Given the description of an element on the screen output the (x, y) to click on. 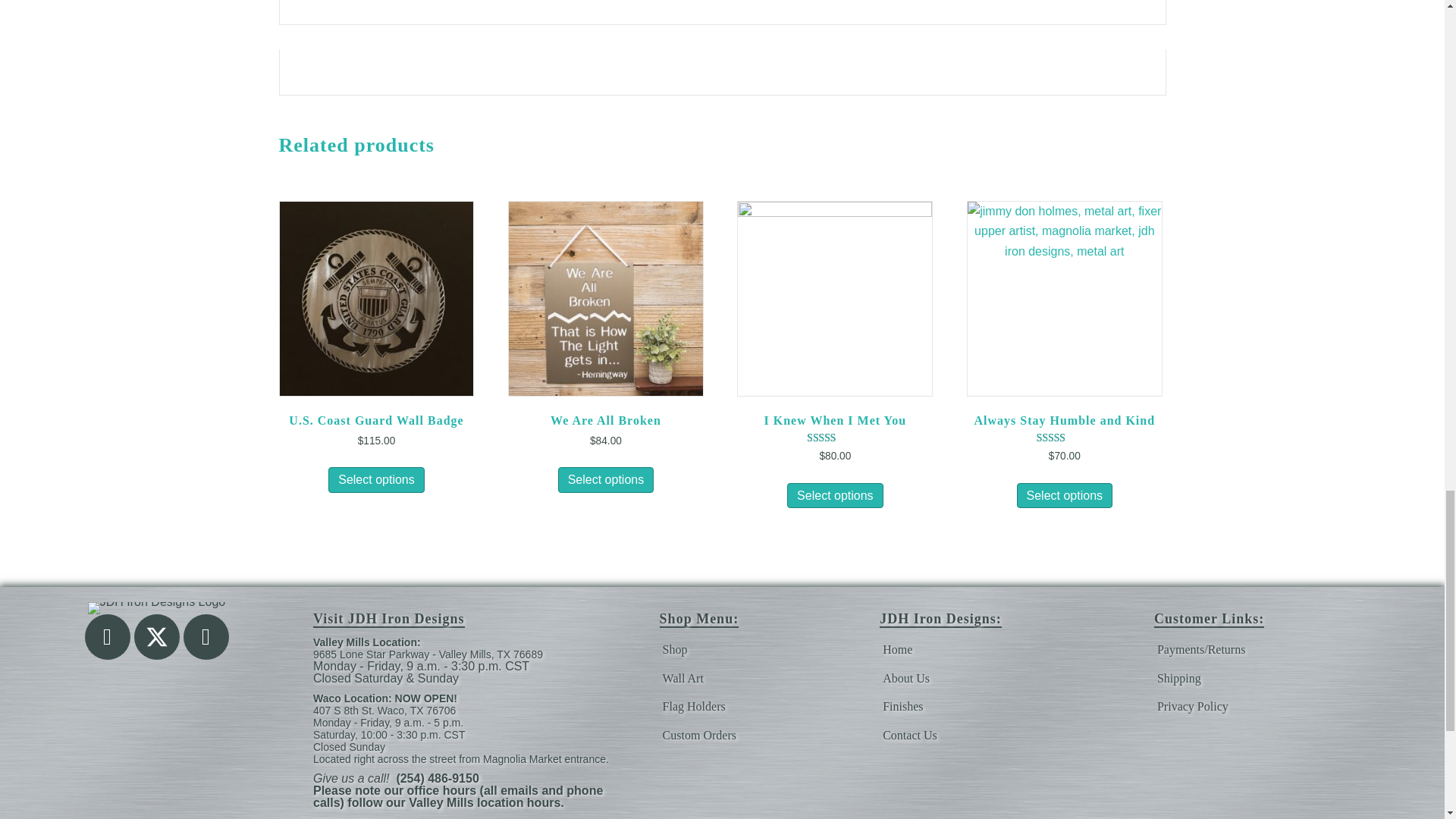
Facebook (107, 637)
Instagram (205, 637)
jdh-footer-logo-revised (156, 607)
